Given the description of an element on the screen output the (x, y) to click on. 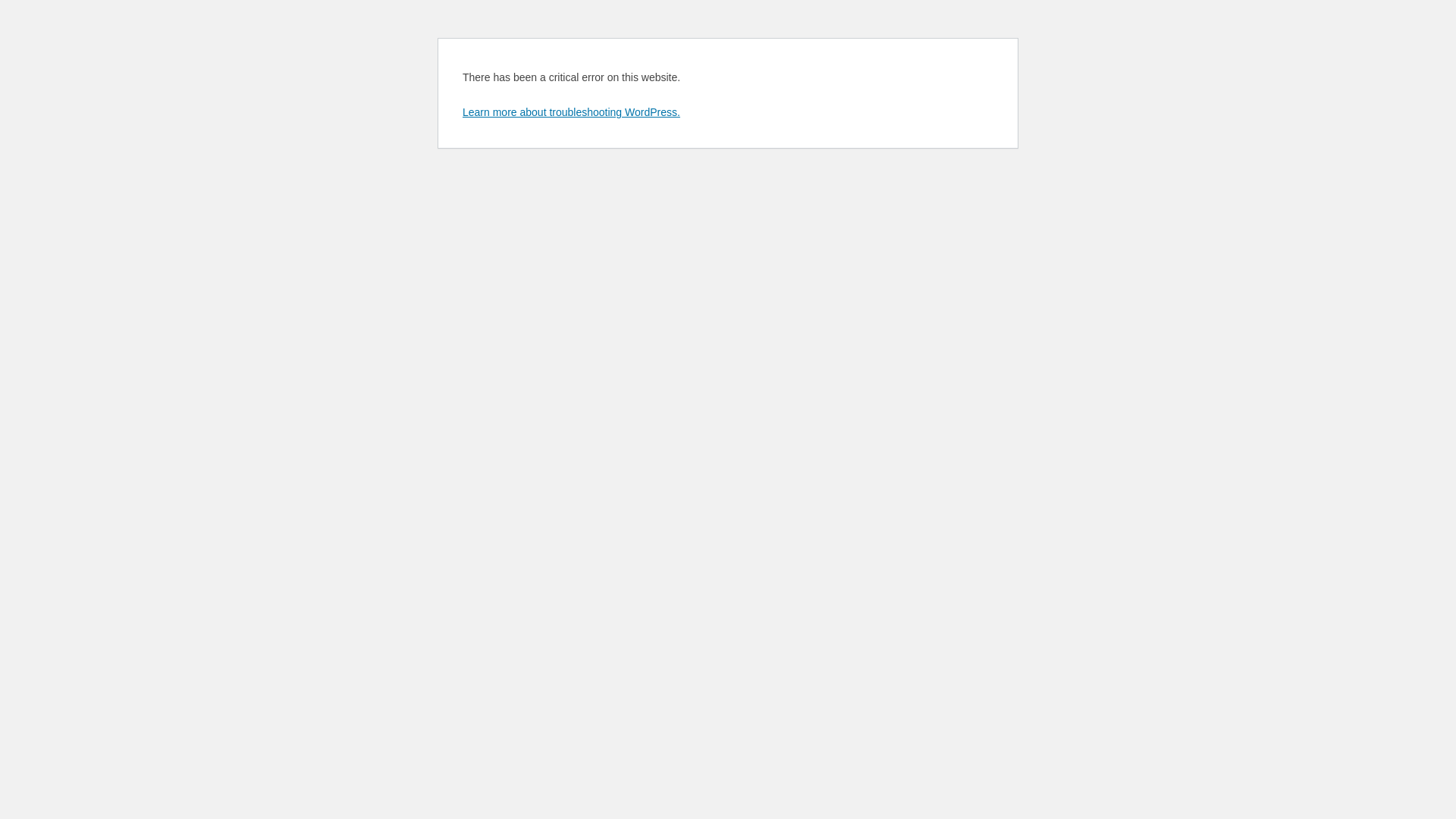
Learn more about troubleshooting WordPress. Element type: text (571, 112)
